Given the description of an element on the screen output the (x, y) to click on. 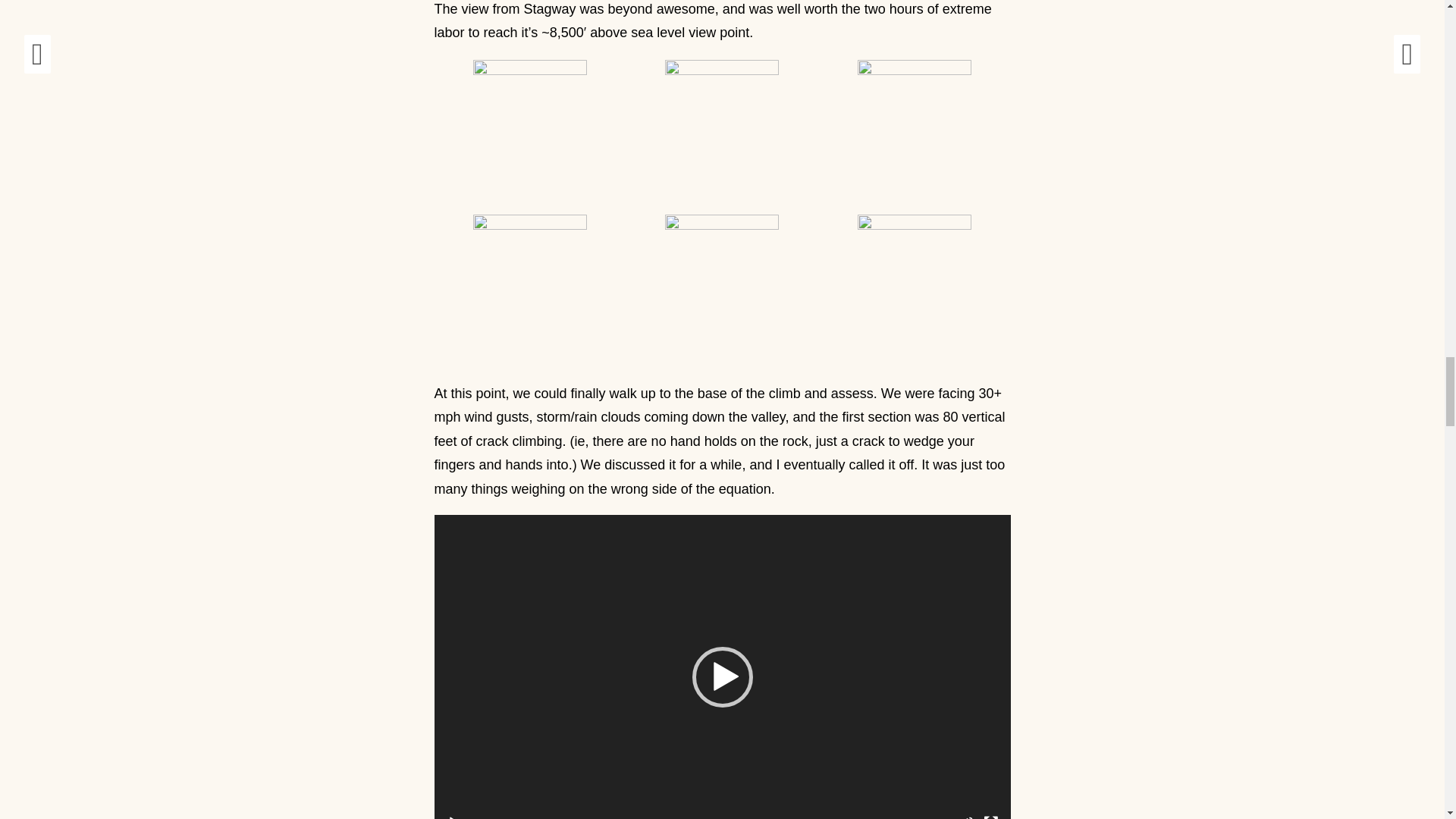
Play (453, 817)
Fullscreen (989, 817)
Mute (966, 817)
